Given the description of an element on the screen output the (x, y) to click on. 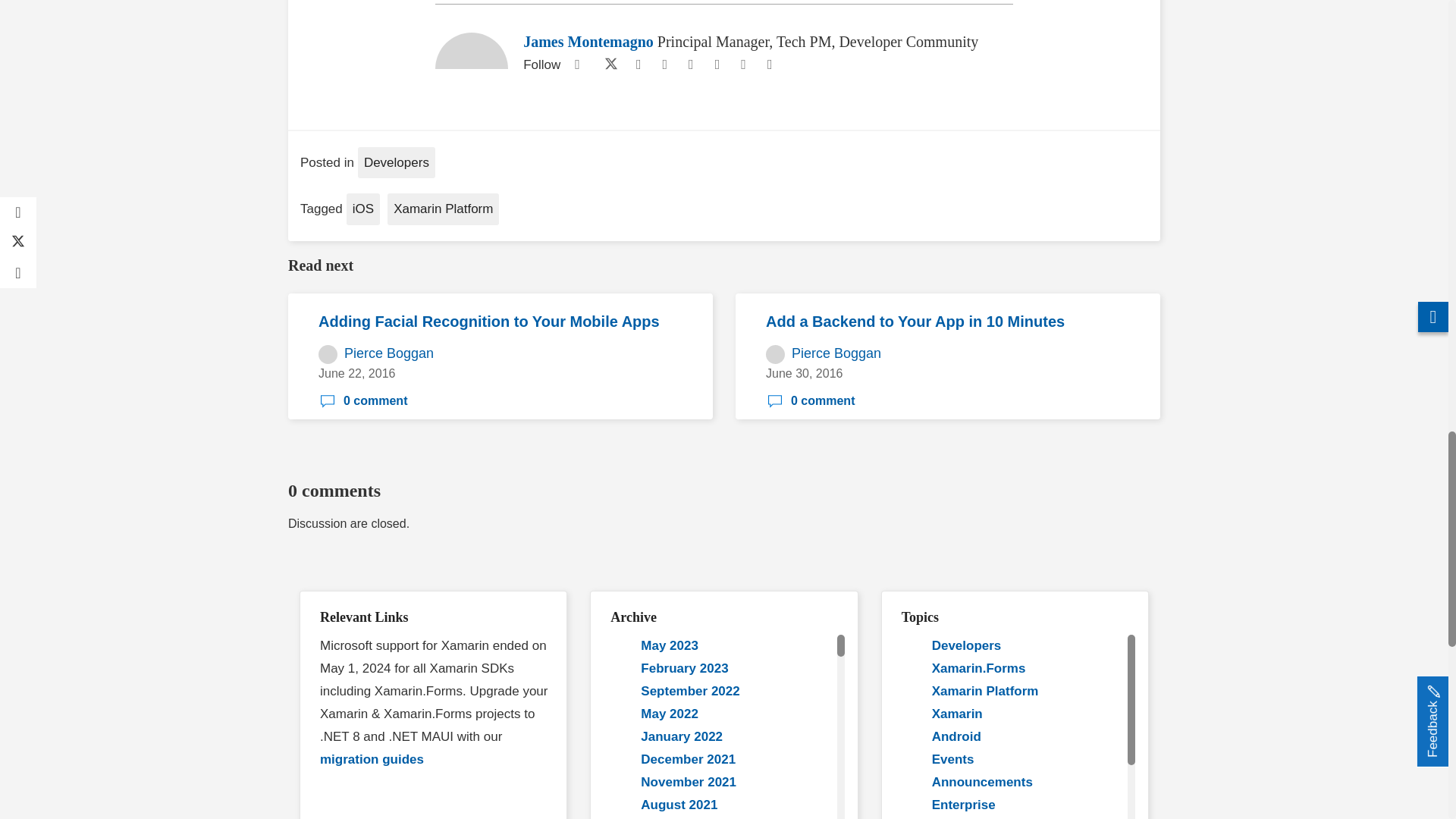
Linkedin (664, 64)
Twitch (716, 64)
Youtube (637, 64)
Facebook (576, 64)
Twitter (607, 64)
Github (690, 64)
